Given the description of an element on the screen output the (x, y) to click on. 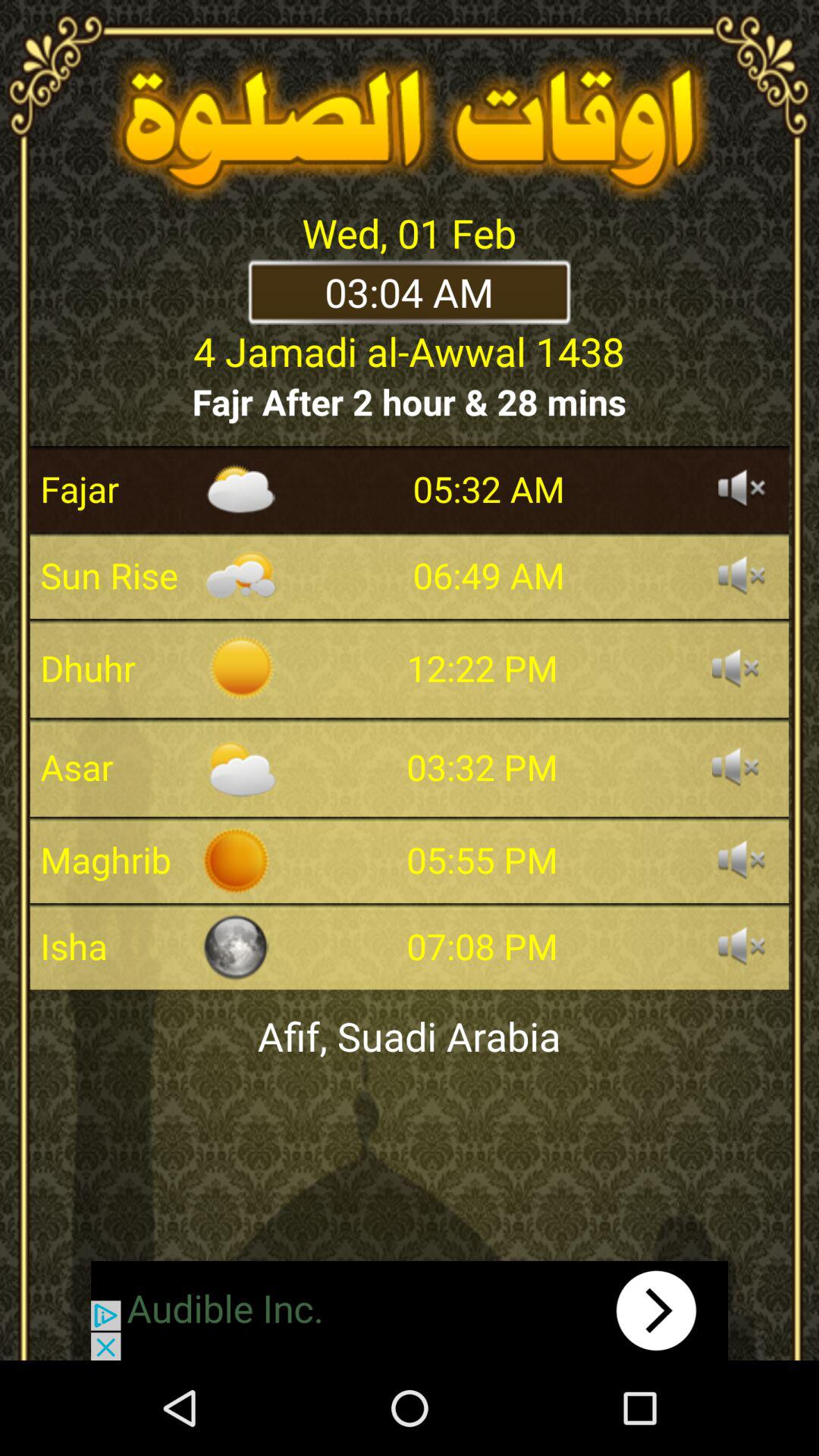
on/off sound (741, 488)
